Given the description of an element on the screen output the (x, y) to click on. 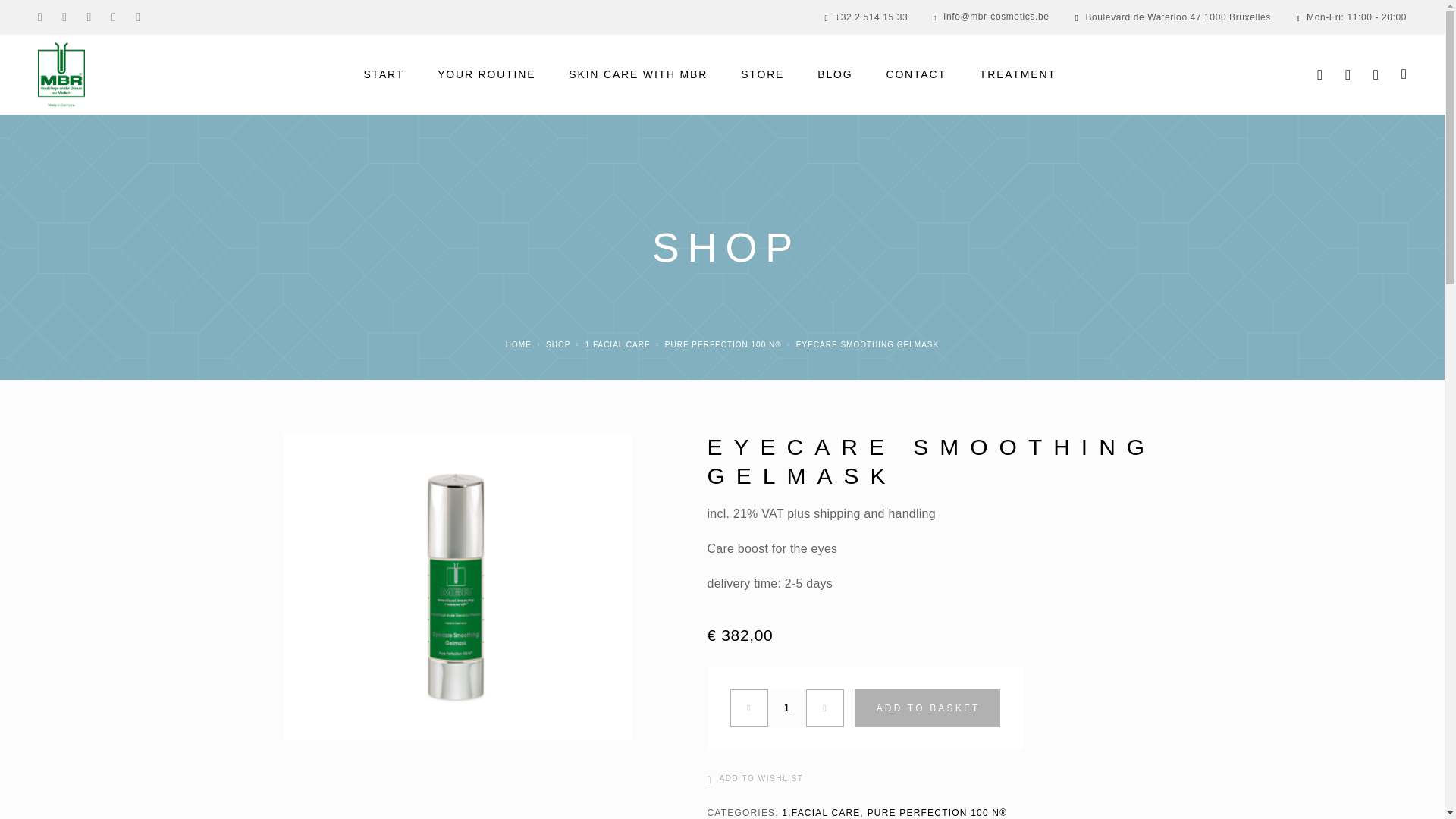
SKIN CARE WITH MBR (638, 74)
TREATMENT (1018, 74)
STORE (762, 74)
Qty (786, 708)
CONTACT (914, 74)
START (383, 74)
BLOG (833, 74)
YOUR ROUTINE (486, 74)
1 (786, 708)
